Given the description of an element on the screen output the (x, y) to click on. 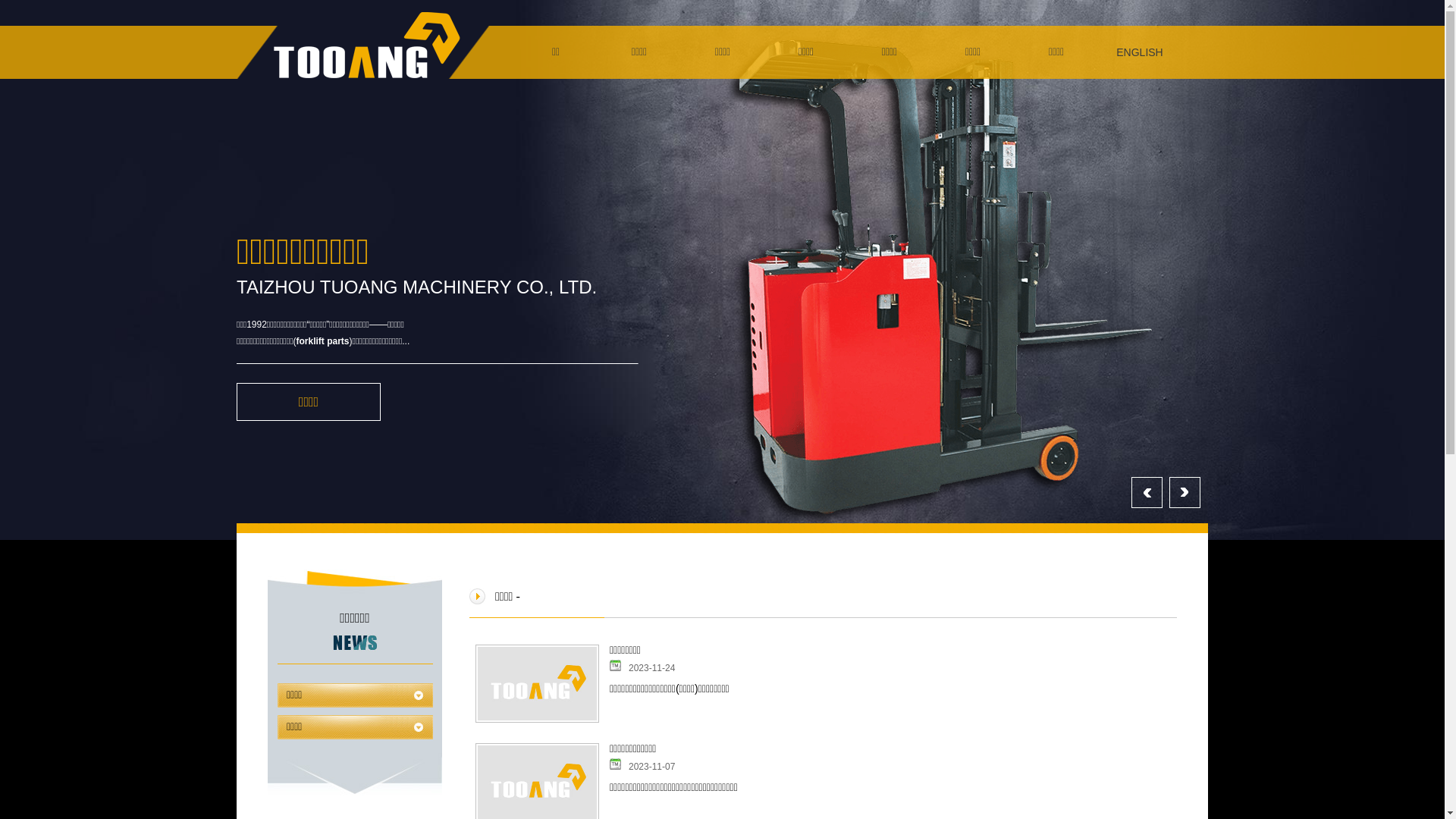
ENGLISH Element type: text (1139, 51)
forklift parts Element type: text (322, 340)
